Given the description of an element on the screen output the (x, y) to click on. 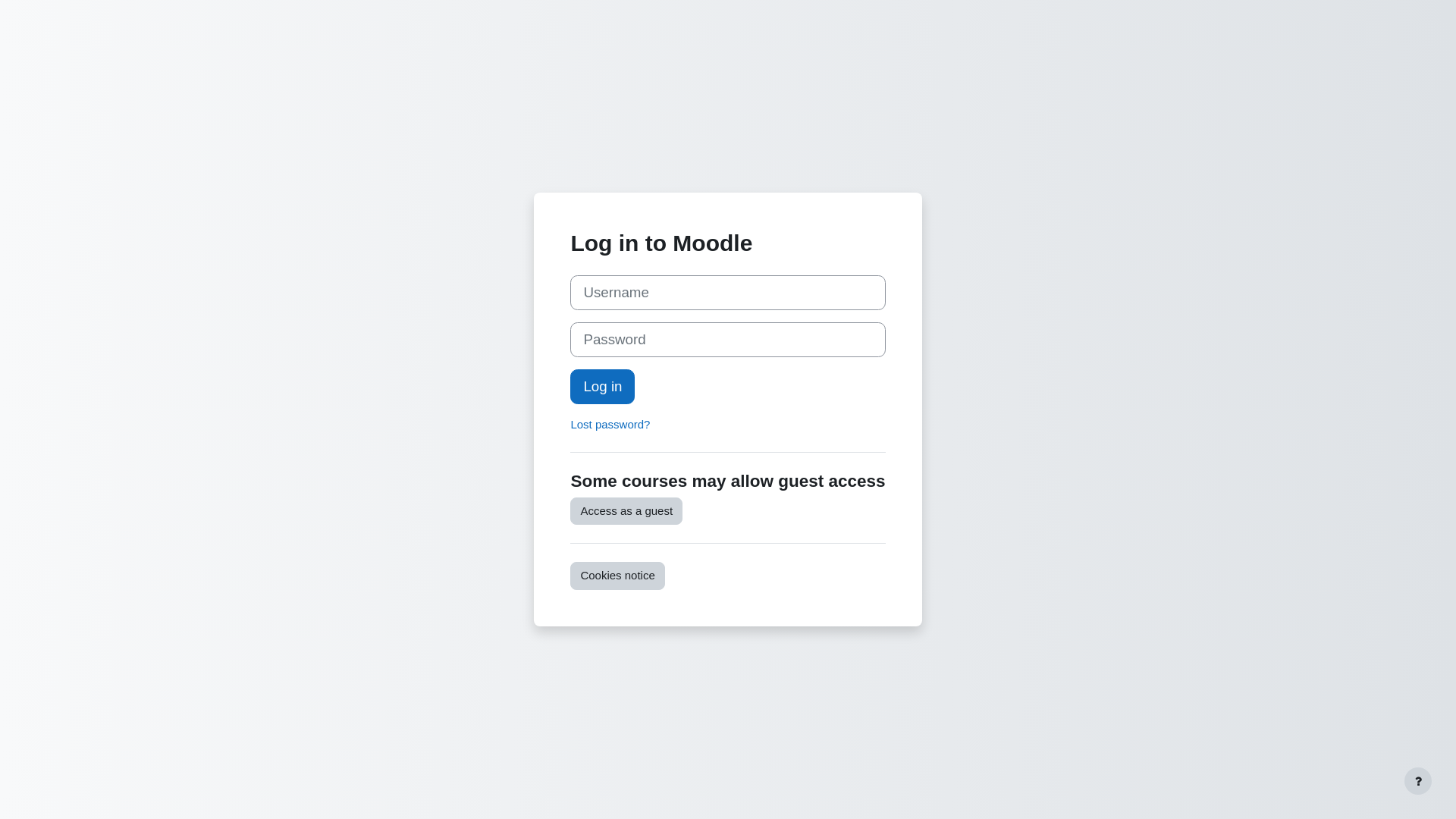
Log in Element type: text (602, 386)
Cookies notice Element type: text (617, 575)
Lost password? Element type: text (609, 423)
Access as a guest Element type: text (626, 511)
